Given the description of an element on the screen output the (x, y) to click on. 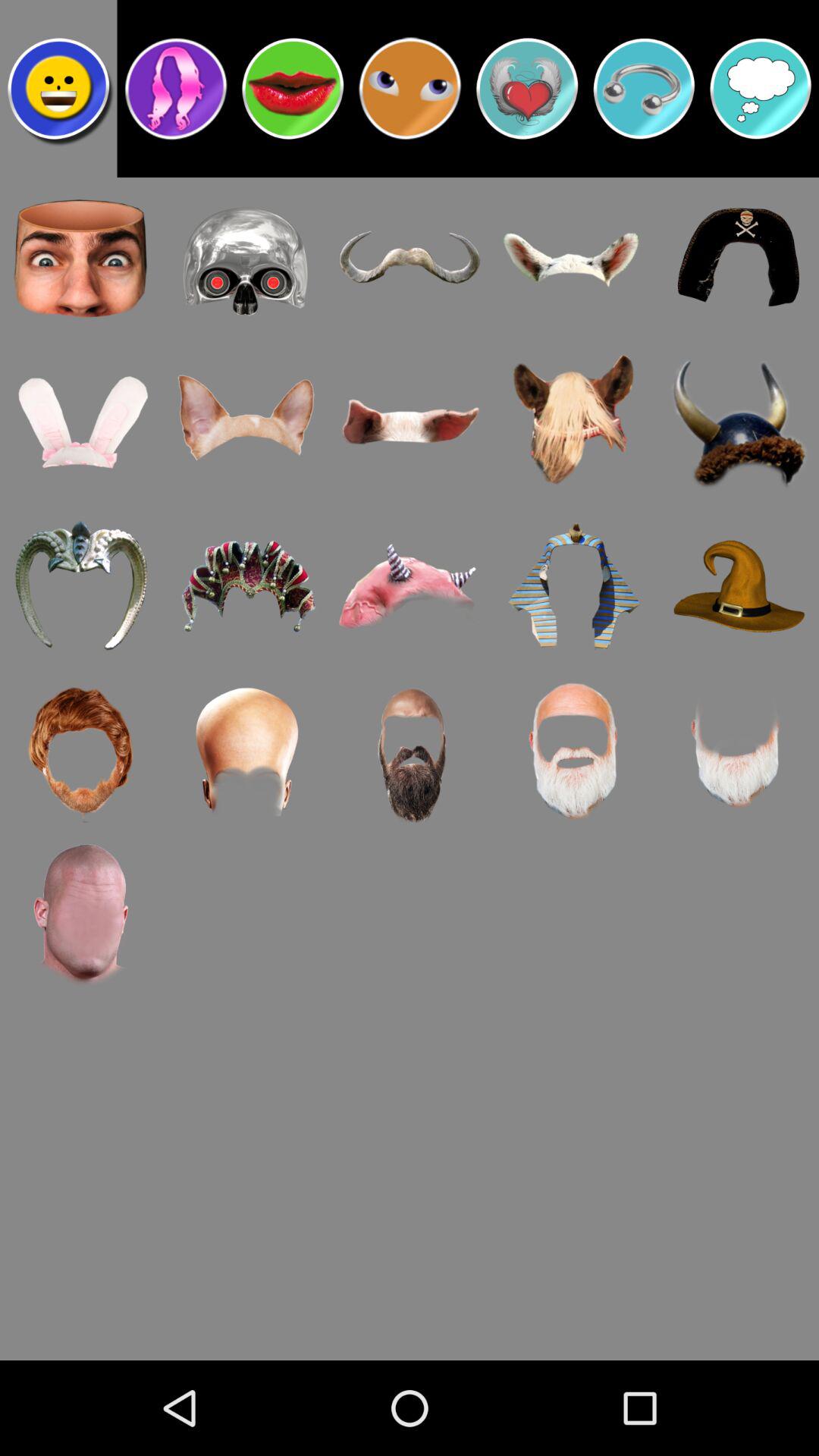
put emoticon with two eyes (409, 88)
